Given the description of an element on the screen output the (x, y) to click on. 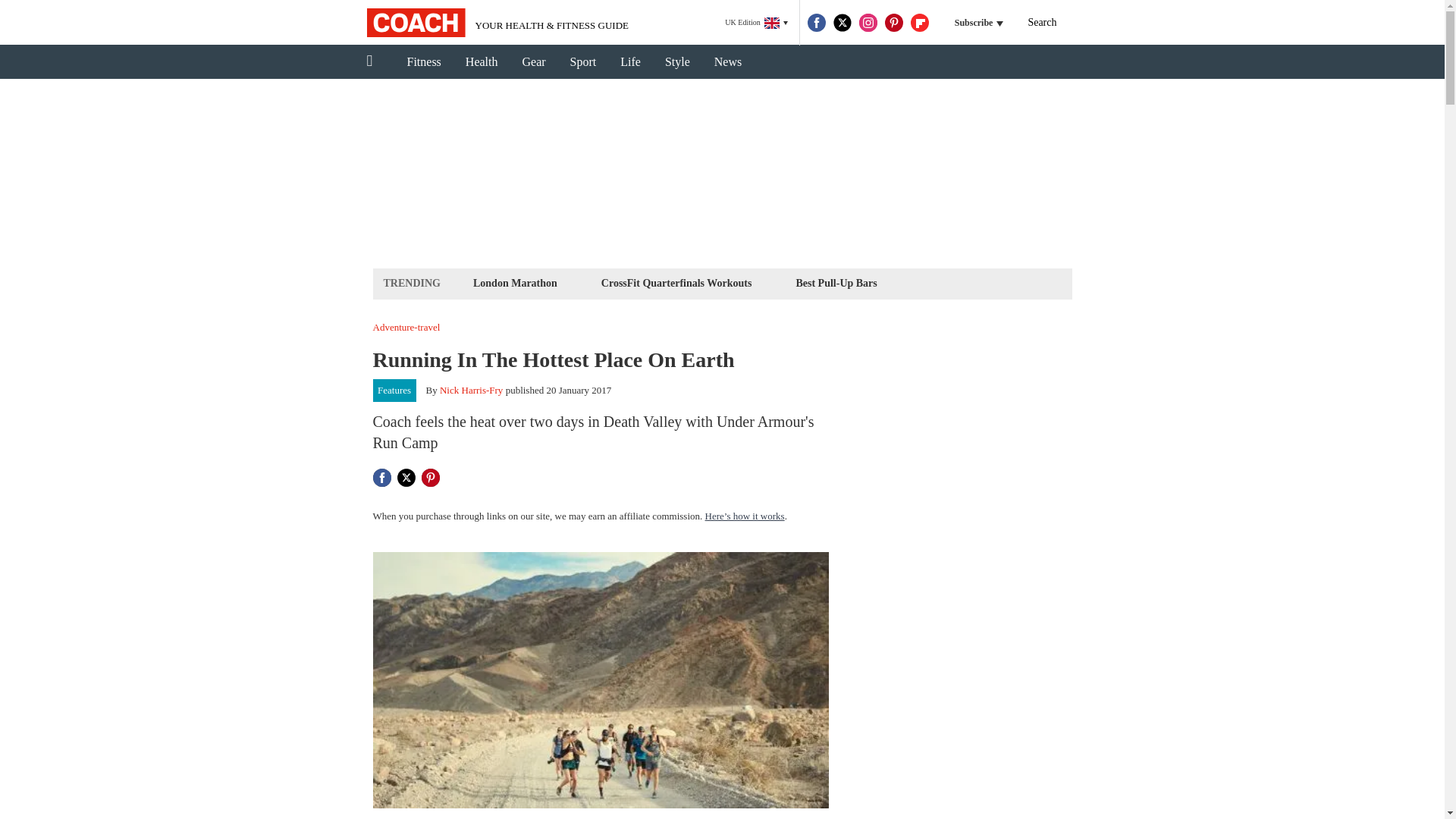
Style (676, 61)
Health (481, 61)
Nick Harris-Fry (470, 389)
Gear (533, 61)
Life (630, 61)
Adventure-travel (406, 327)
UK Edition (755, 22)
CrossFit Quarterfinals Workouts (676, 282)
Fitness (423, 61)
News (727, 61)
